Given the description of an element on the screen output the (x, y) to click on. 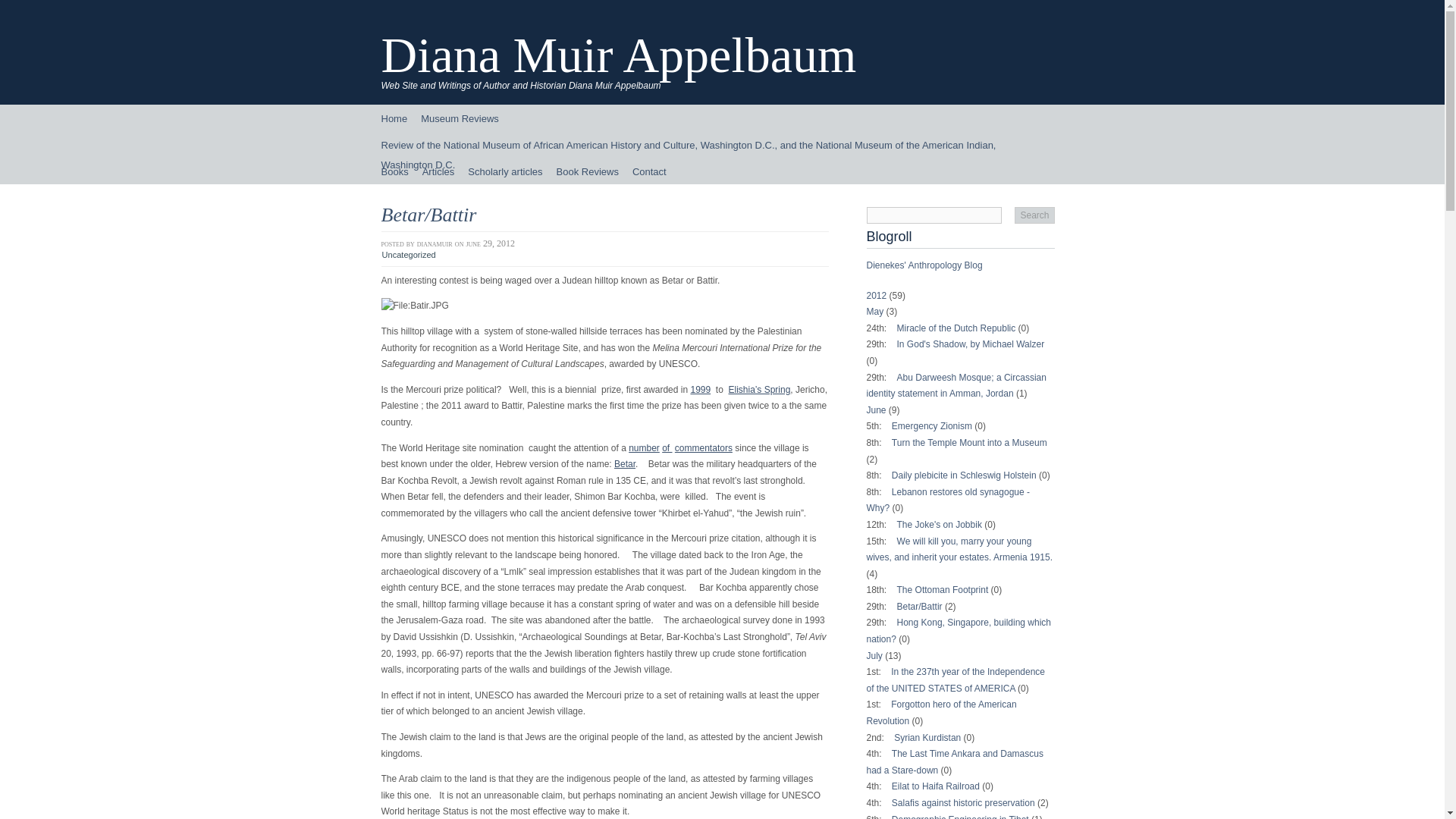
Articles (438, 171)
Home (393, 117)
Search (1034, 215)
Diana Muir Appelbaum (618, 54)
Books (393, 171)
Museum Reviews (459, 117)
